Given the description of an element on the screen output the (x, y) to click on. 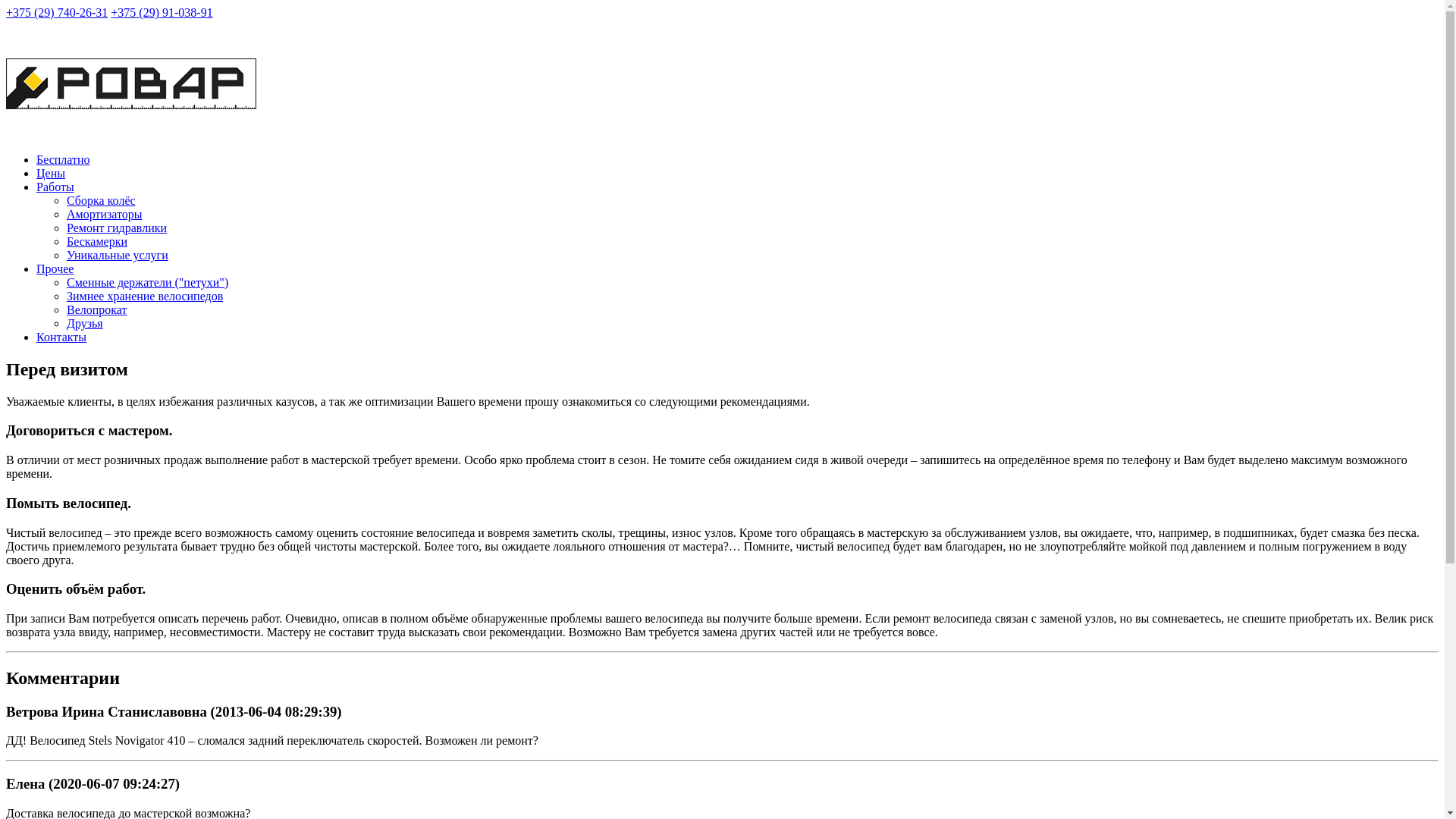
+375 (29) 740-26-31 Element type: text (56, 12)
+375 (29) 91-038-91 Element type: text (161, 12)
